Given the description of an element on the screen output the (x, y) to click on. 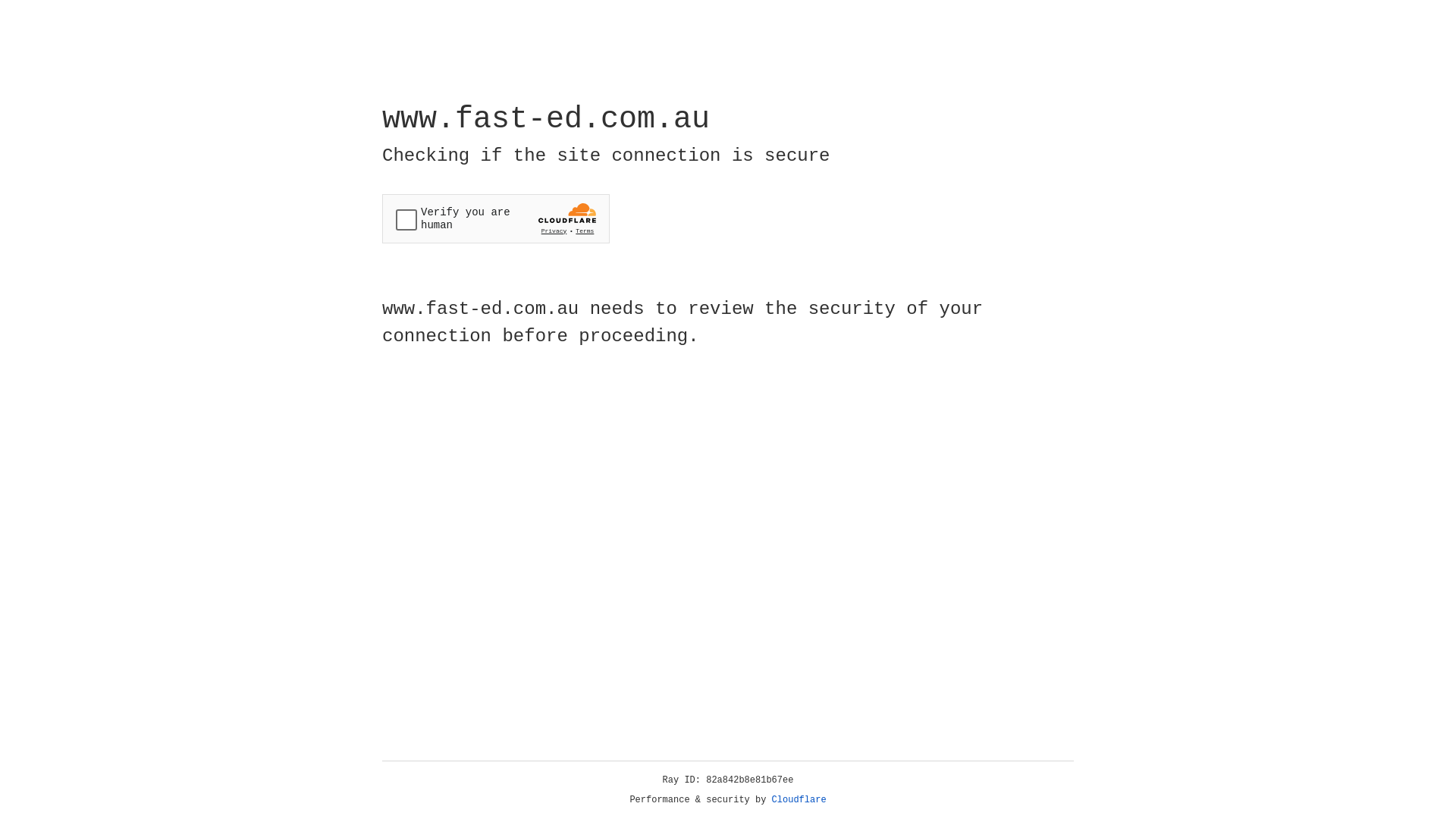
Cloudflare Element type: text (798, 799)
Widget containing a Cloudflare security challenge Element type: hover (495, 218)
